Given the description of an element on the screen output the (x, y) to click on. 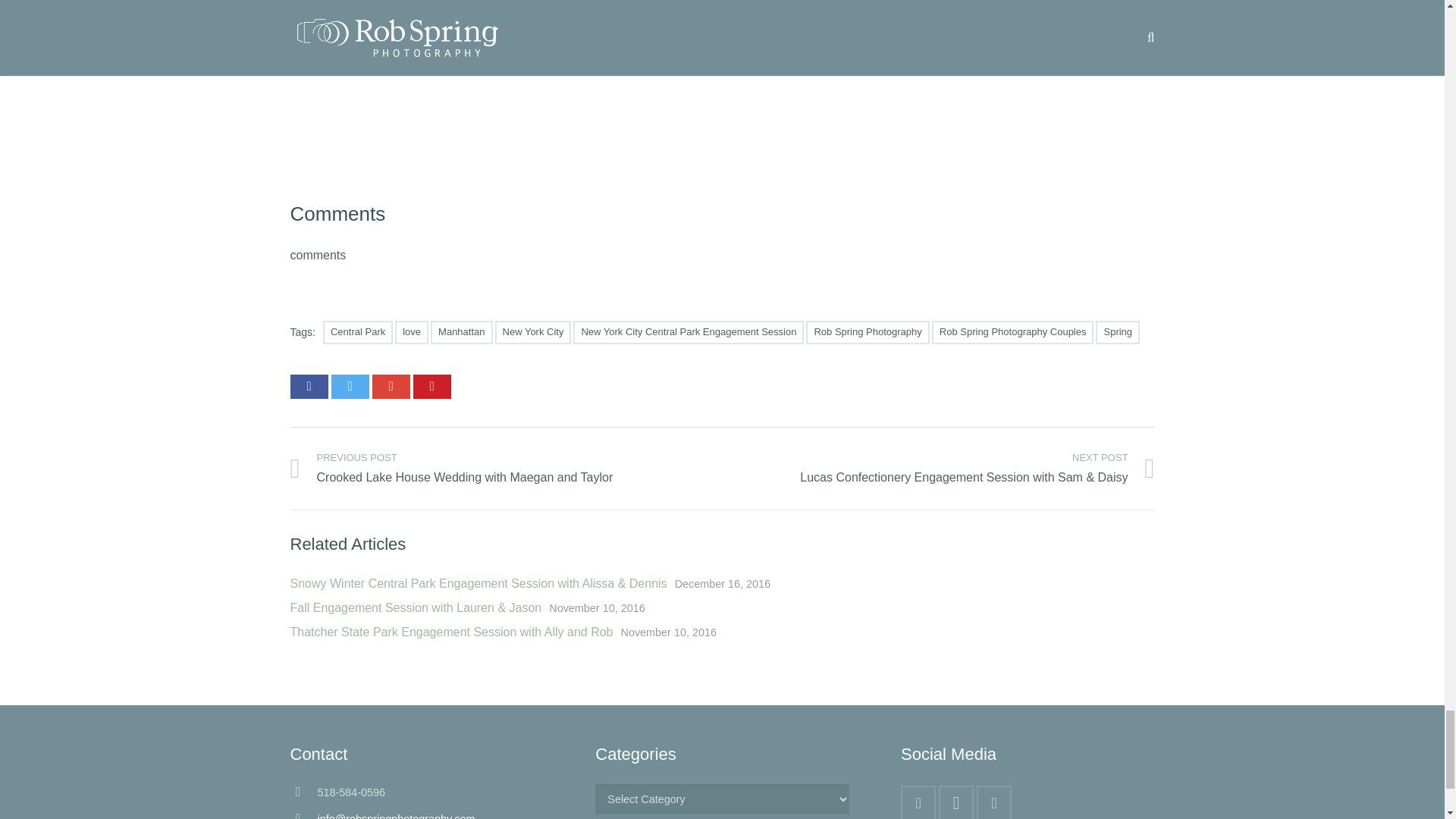
Share this (308, 386)
New York City (533, 332)
New York City Central Park Engagement Session (688, 332)
love (411, 332)
Manhattan (461, 332)
Share this (390, 386)
Pin this (430, 386)
Tweet this (349, 386)
Central Park (358, 332)
